Given the description of an element on the screen output the (x, y) to click on. 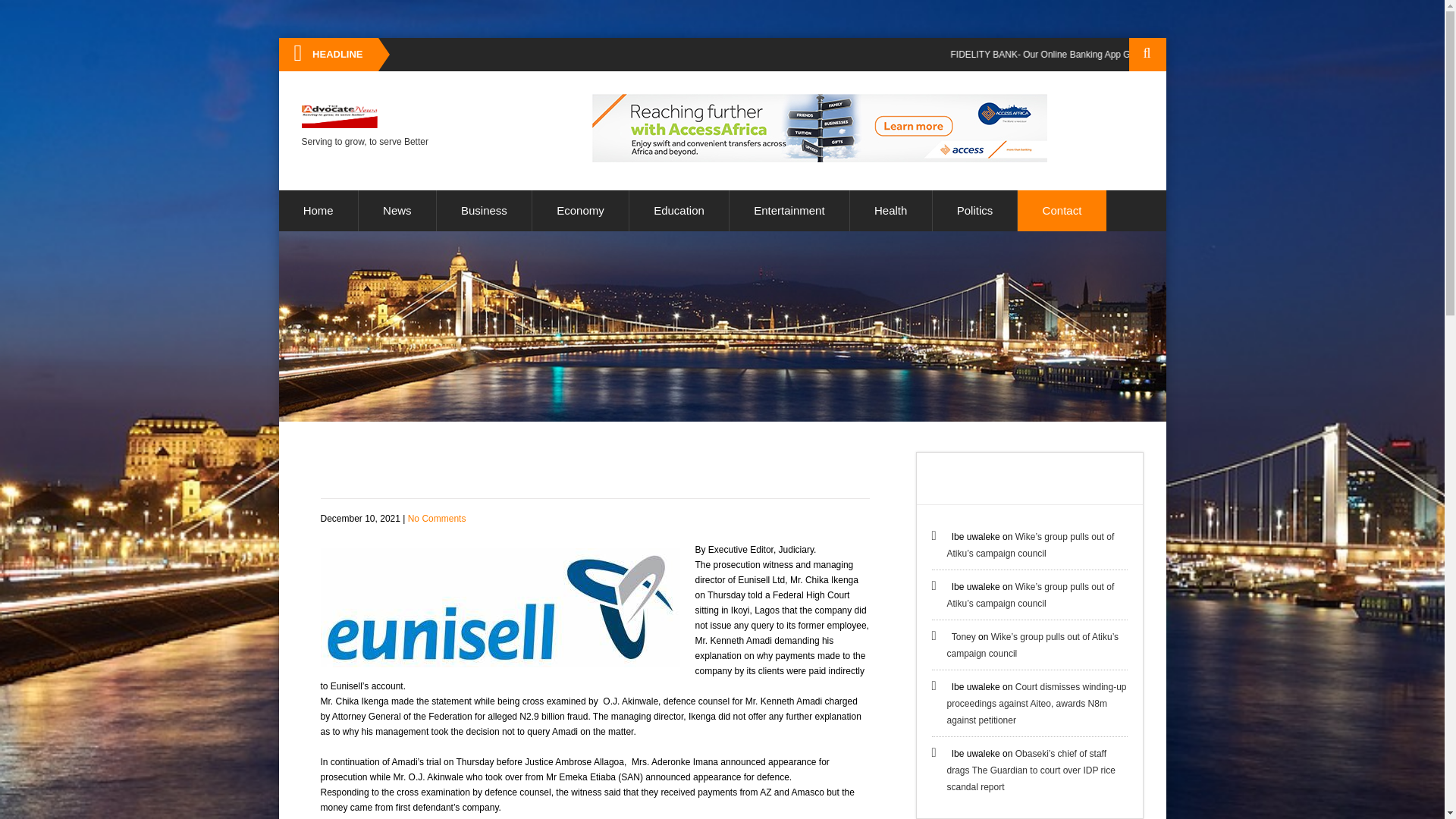
Home (318, 210)
Politics (975, 210)
Contact (1061, 210)
Business (483, 210)
Health (890, 210)
Education (678, 210)
Serving to grow, to serve Better (364, 127)
Entertainment (788, 210)
No Comments (436, 518)
Toney (963, 636)
News (396, 210)
Economy (580, 210)
